Given the description of an element on the screen output the (x, y) to click on. 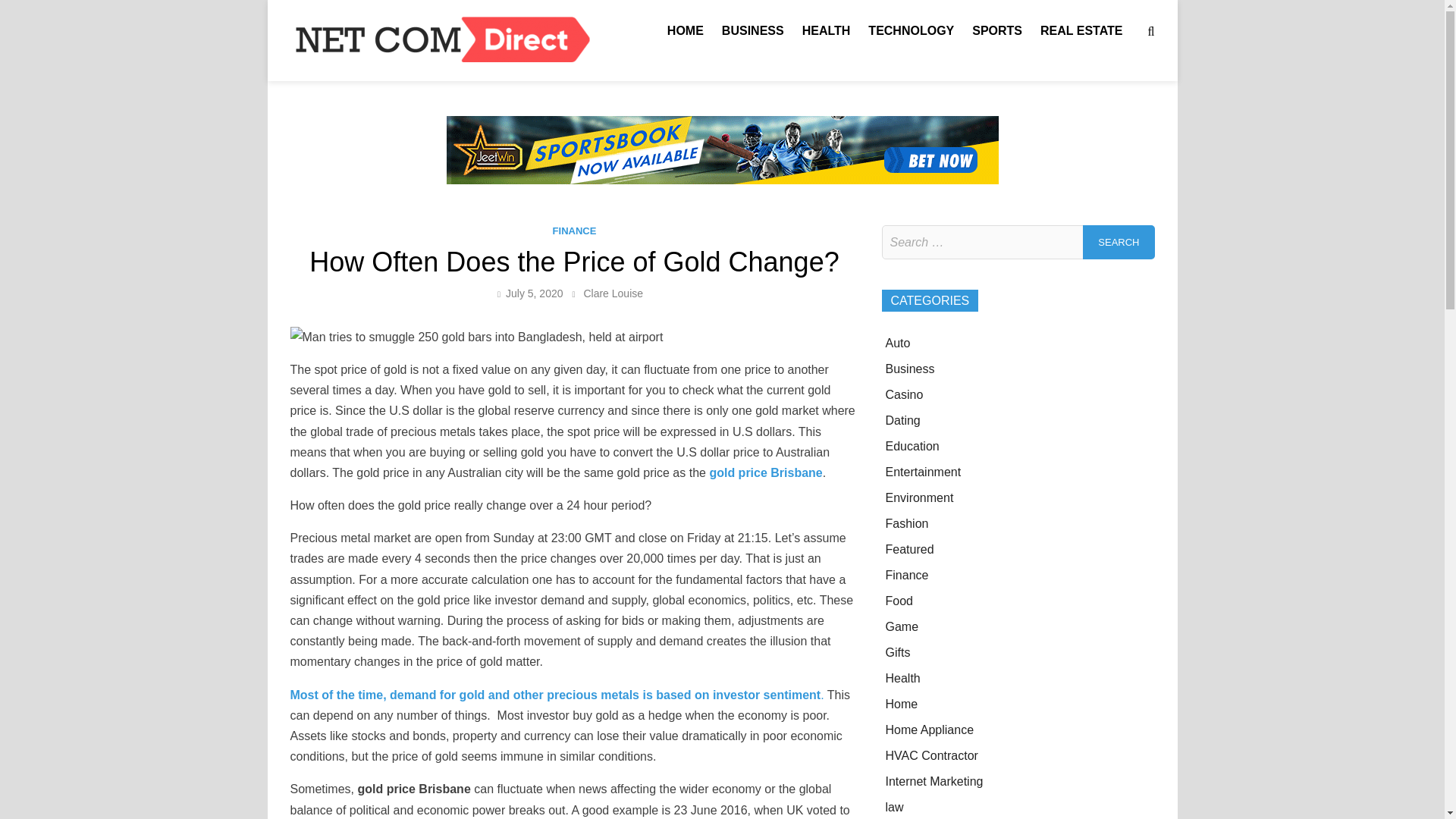
Food (898, 600)
Netcom Direct (665, 51)
Gifts (898, 652)
law (894, 807)
Finance (906, 574)
HOME (685, 30)
HEALTH (826, 30)
Casino (904, 394)
Search (1118, 242)
Game (901, 626)
